Given the description of an element on the screen output the (x, y) to click on. 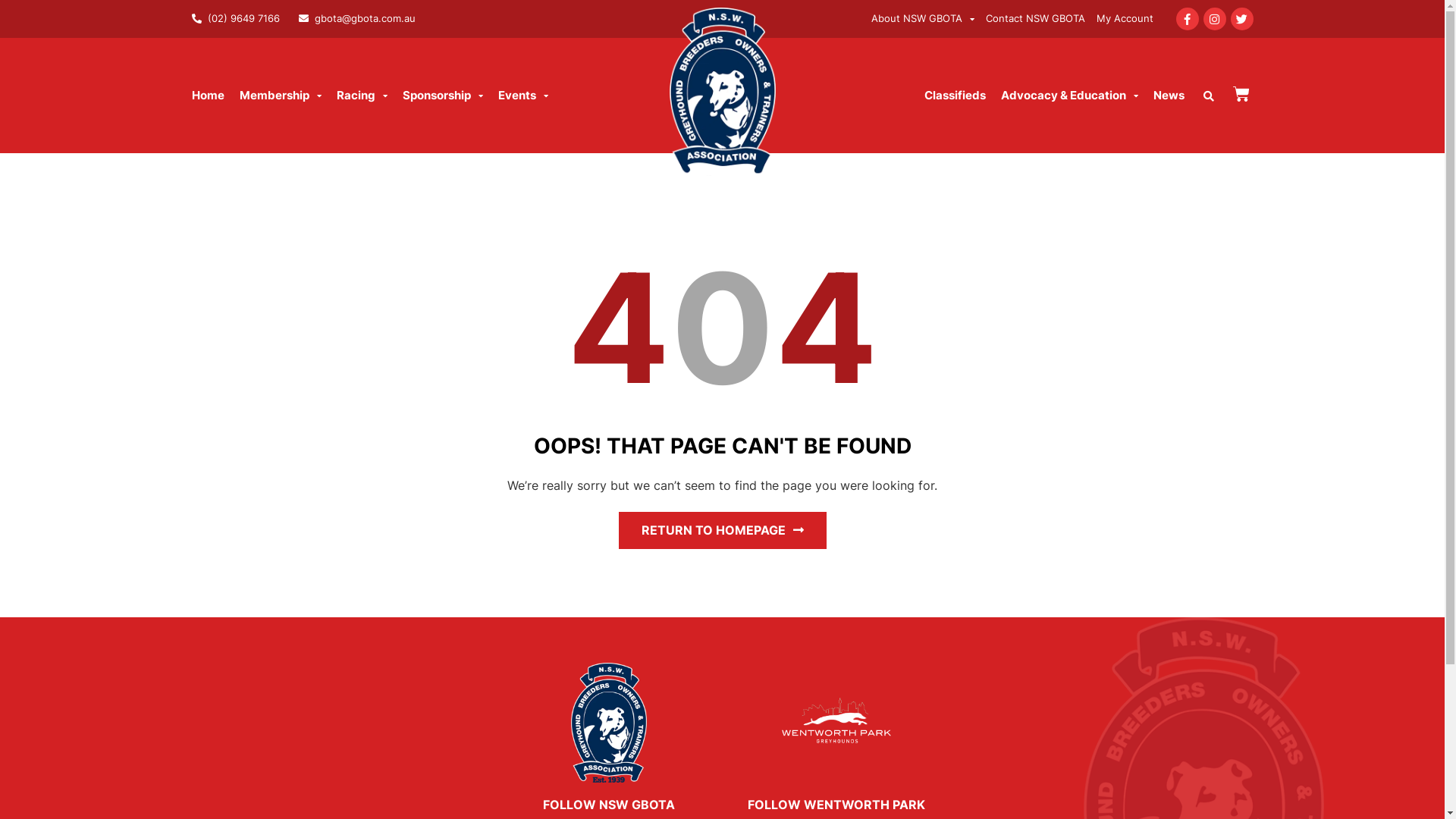
Membership Element type: text (280, 95)
Classifieds Element type: text (954, 95)
Events Element type: text (522, 95)
Sponsorship Element type: text (441, 95)
Home Element type: text (207, 95)
RETURN TO HOMEPAGE Element type: text (722, 530)
Contact NSW GBOTA Element type: text (1035, 18)
Advocacy & Education Element type: text (1069, 95)
About NSW GBOTA Element type: text (921, 18)
Racing Element type: text (361, 95)
(02) 9649 7166 Element type: text (235, 18)
gbota@gbota.com.au Element type: text (356, 18)
News Element type: text (1168, 95)
My Account Element type: text (1124, 18)
